Given the description of an element on the screen output the (x, y) to click on. 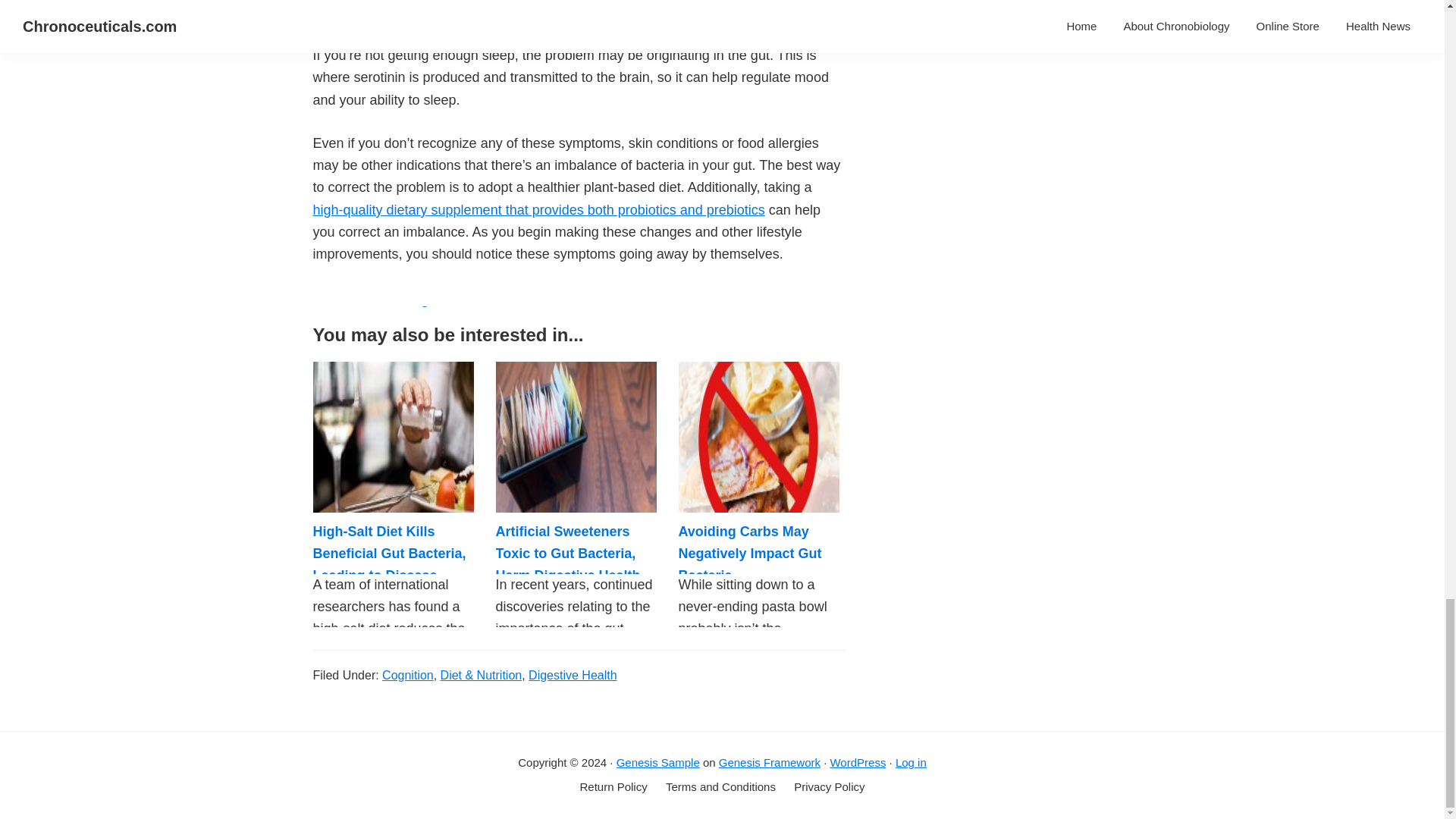
Avoiding Carbs May Negatively Impact Gut Bacteria (750, 553)
Return Policy (612, 787)
Digestive Health (572, 675)
Log in (910, 762)
Cognition (407, 675)
Terms and Conditions (720, 787)
Privacy Policy (828, 787)
Genesis Sample (657, 762)
Genesis Framework (770, 762)
WordPress (857, 762)
